Given the description of an element on the screen output the (x, y) to click on. 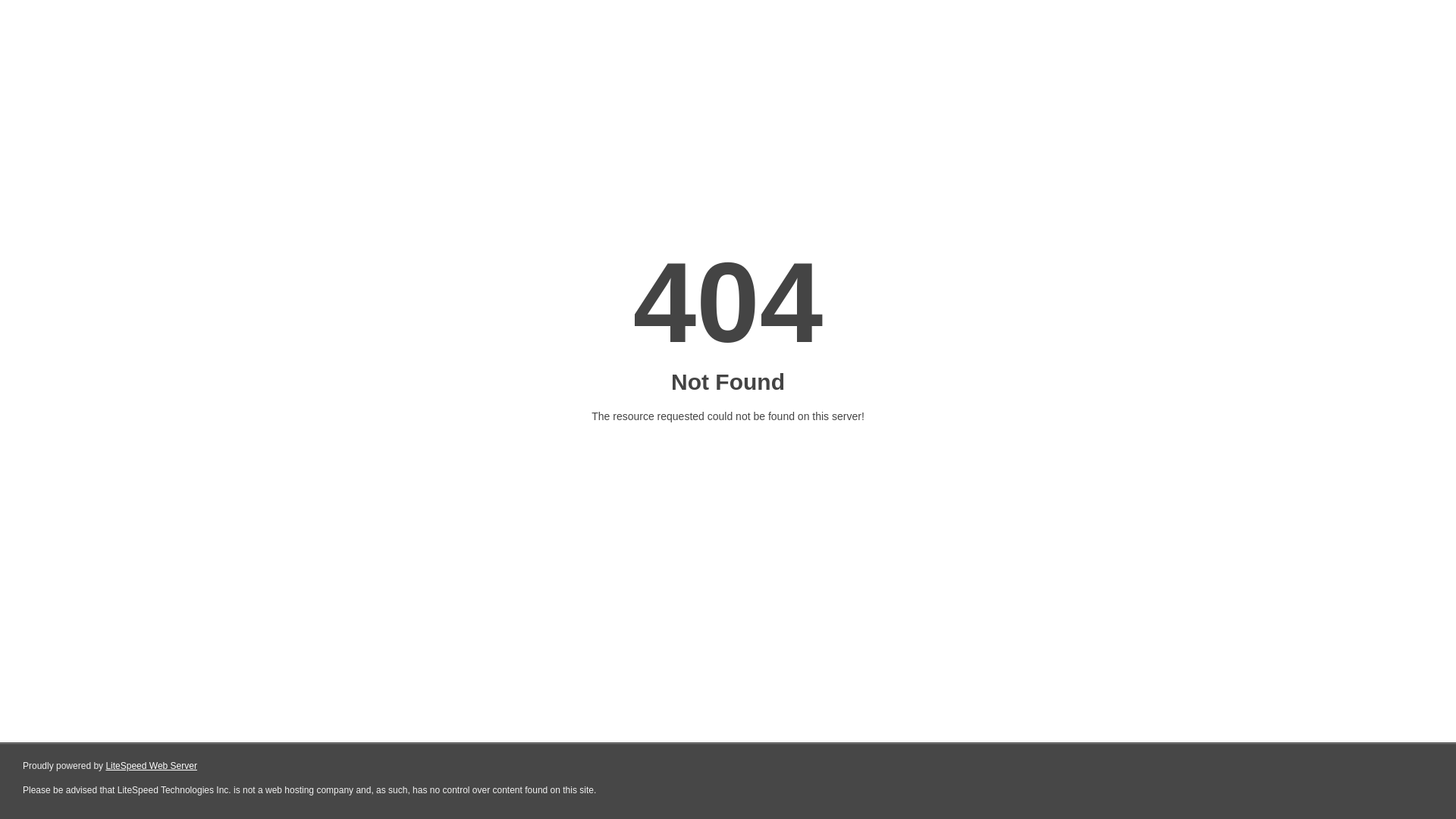
LiteSpeed Web Server (150, 765)
